Given the description of an element on the screen output the (x, y) to click on. 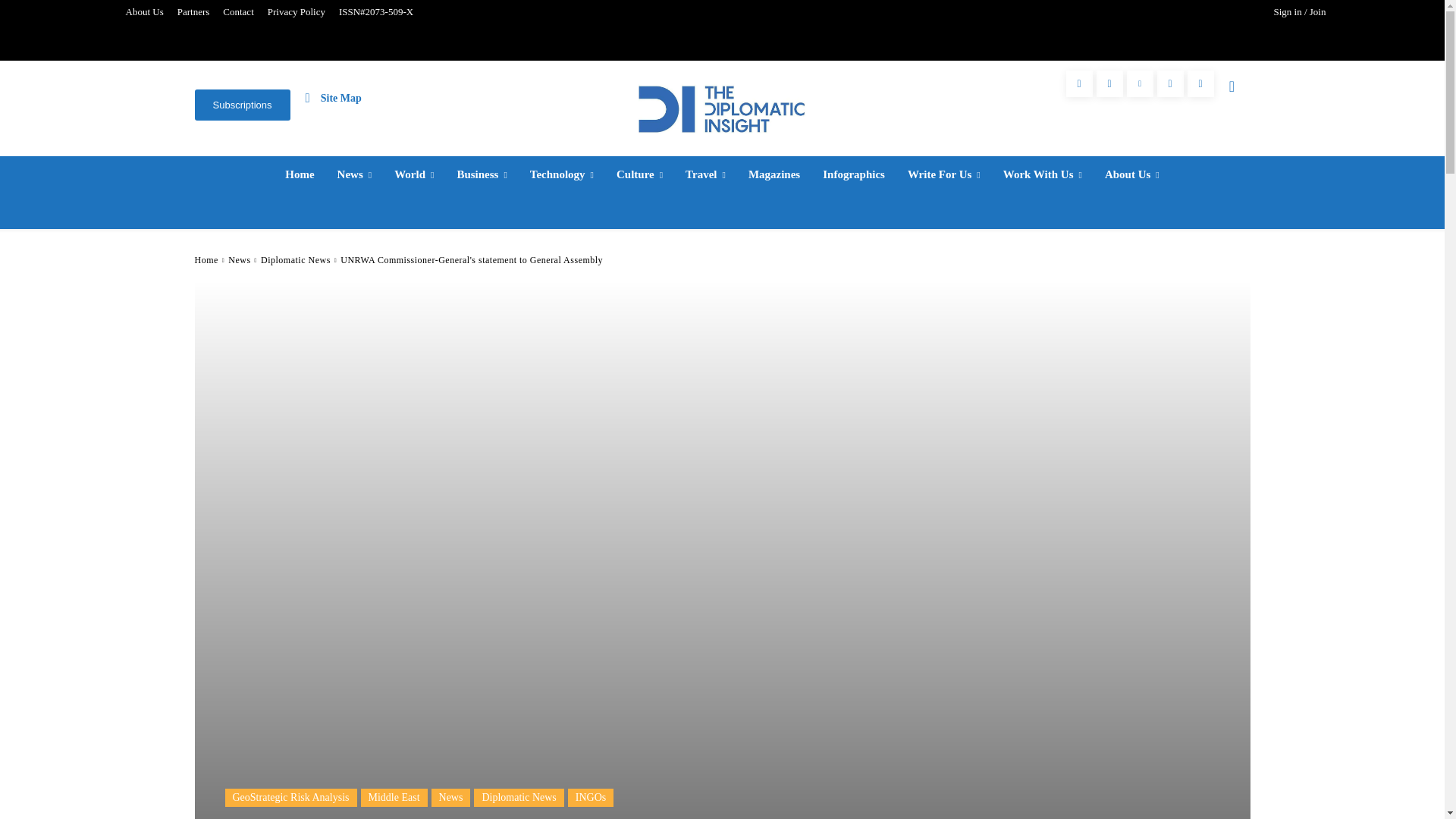
Facebook (1079, 82)
Instagram (1109, 82)
View all posts in Diplomatic News (295, 259)
Twitter (1170, 82)
View all posts in News (239, 259)
Youtube (1201, 82)
Linkedin (1139, 82)
Subscriptions (241, 104)
Site Map (333, 97)
